Given the description of an element on the screen output the (x, y) to click on. 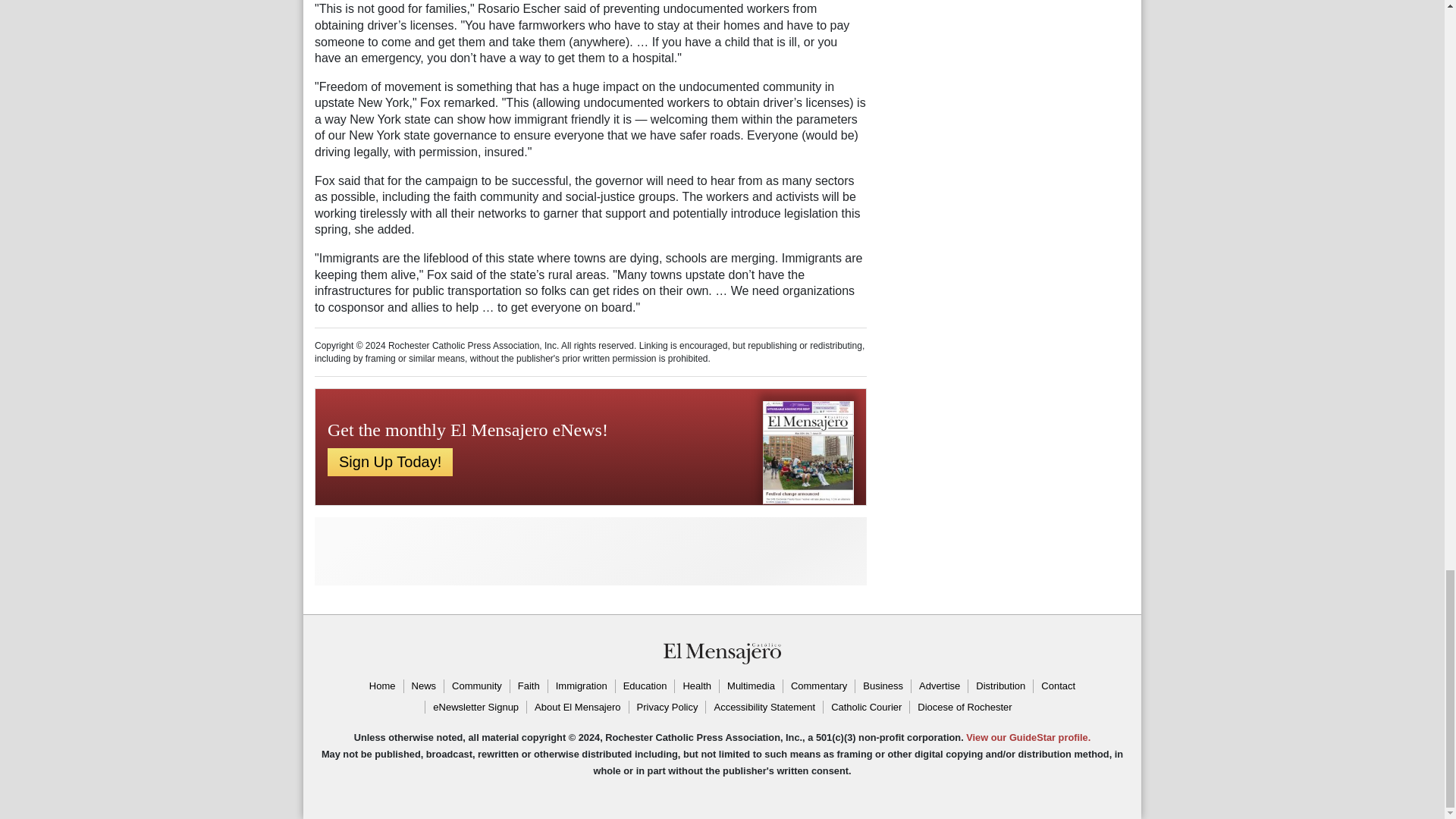
Contact (1057, 685)
Sign Up Today! (389, 461)
Commentary (818, 685)
Business (882, 685)
eNewsletter Signup (475, 707)
Multimedia (751, 685)
Community (476, 685)
Education (644, 685)
Home (382, 685)
Immigration (580, 685)
